Given the description of an element on the screen output the (x, y) to click on. 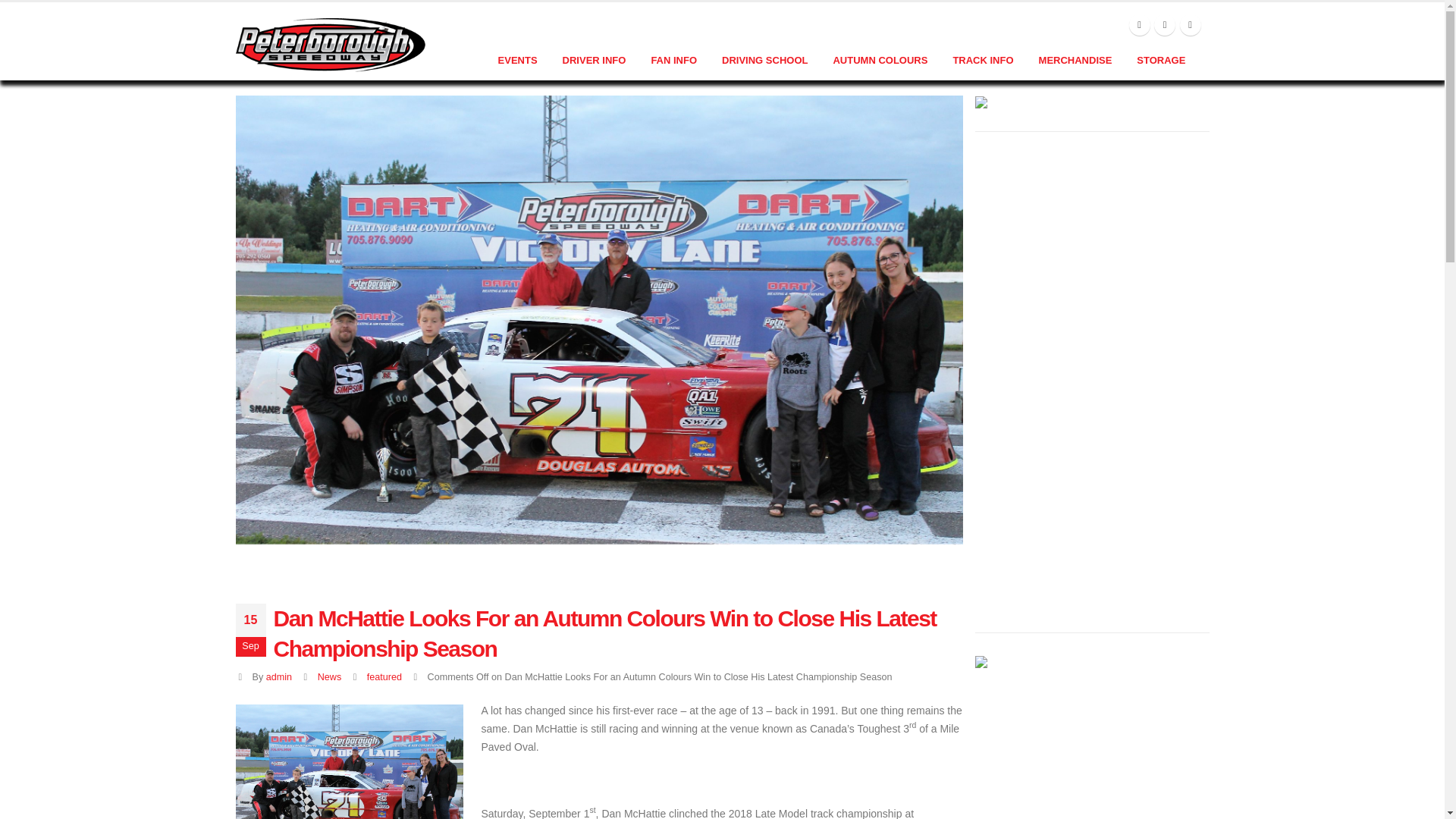
AUTUMN COLOURS (880, 60)
FAN INFO (674, 60)
EVENTS (518, 60)
Facebook (1139, 25)
Posts by admin (279, 676)
DRIVING SCHOOL (764, 60)
Peterborough Speedway -  (329, 44)
Youtube (1164, 25)
DRIVER INFO (594, 60)
Instagram (1190, 25)
